Given the description of an element on the screen output the (x, y) to click on. 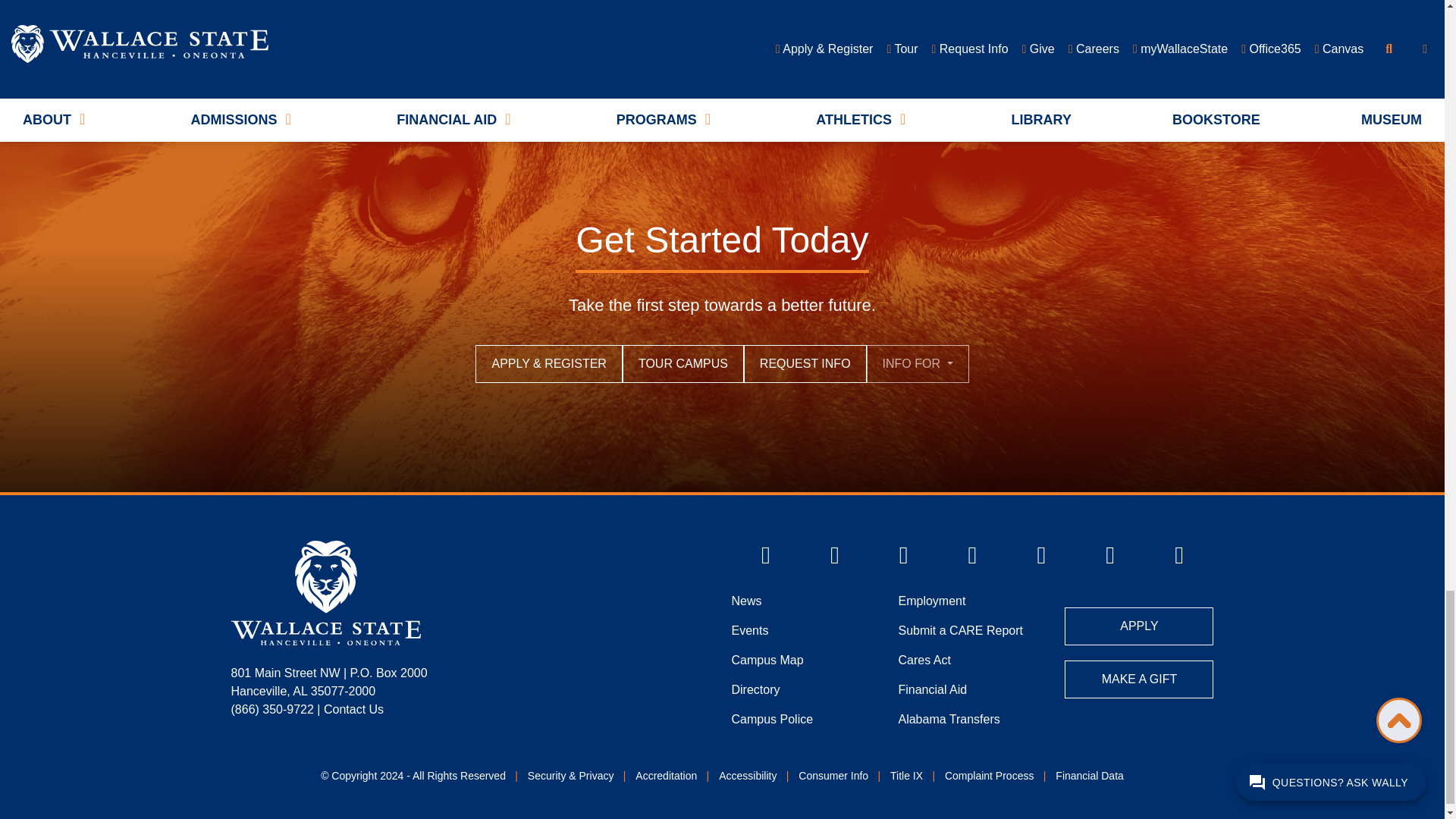
Financial Aid (932, 691)
Directory (754, 691)
News (745, 603)
Alabama Transfers (948, 721)
Accreditation (665, 777)
Campus Map (766, 662)
Events (749, 632)
Submit a CARE Report (960, 632)
Employment (931, 603)
Campus Police (771, 721)
